Given the description of an element on the screen output the (x, y) to click on. 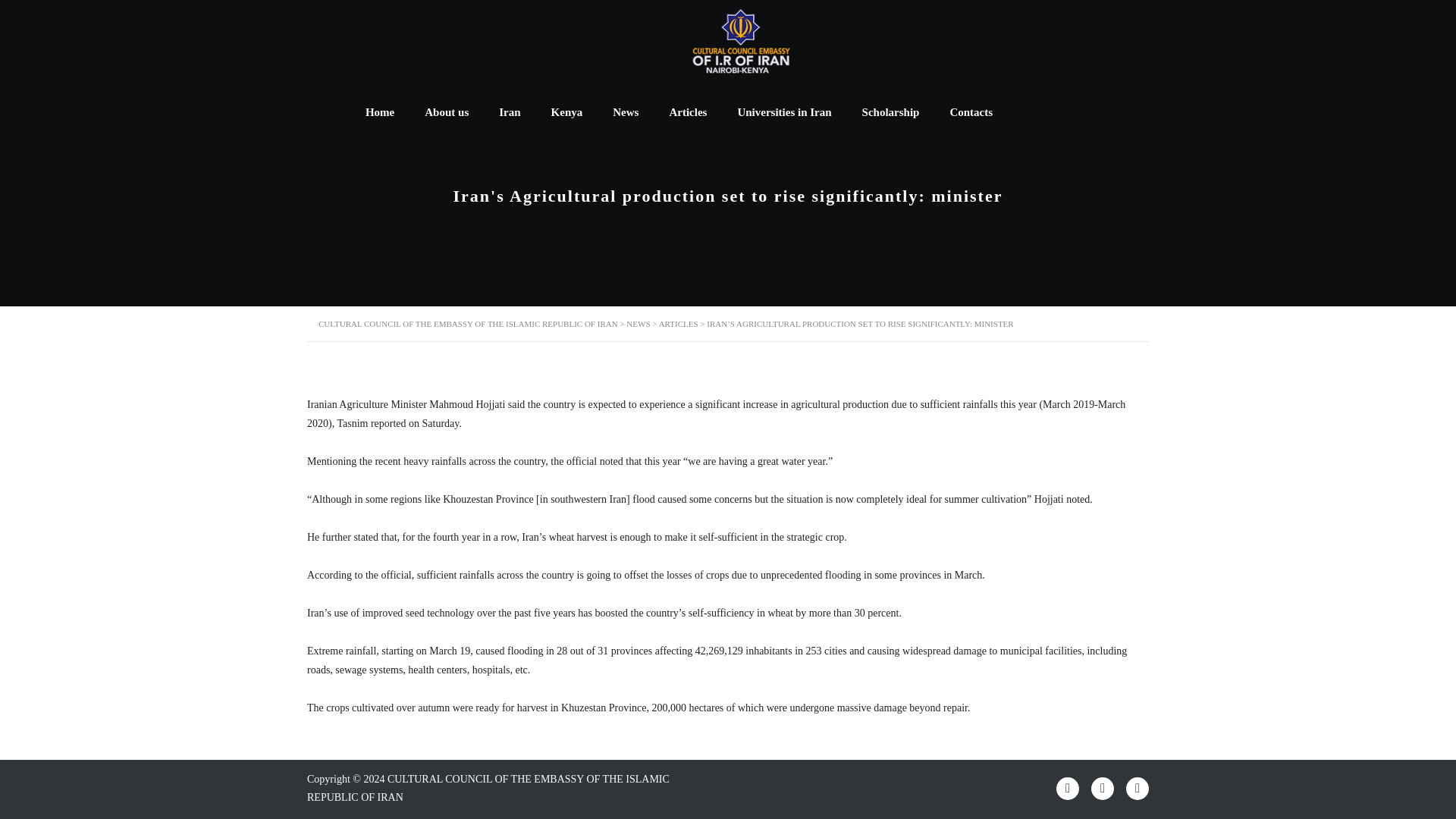
Kenya (566, 113)
Go to News. (637, 323)
Scholarship (890, 113)
Iran (509, 113)
NEWS (637, 323)
Contacts (970, 113)
Universities in Iran (783, 113)
Go to the Articles Category archives. (678, 323)
ARTICLES (678, 323)
About us (446, 113)
Articles (687, 113)
Home (379, 113)
News (624, 113)
